Given the description of an element on the screen output the (x, y) to click on. 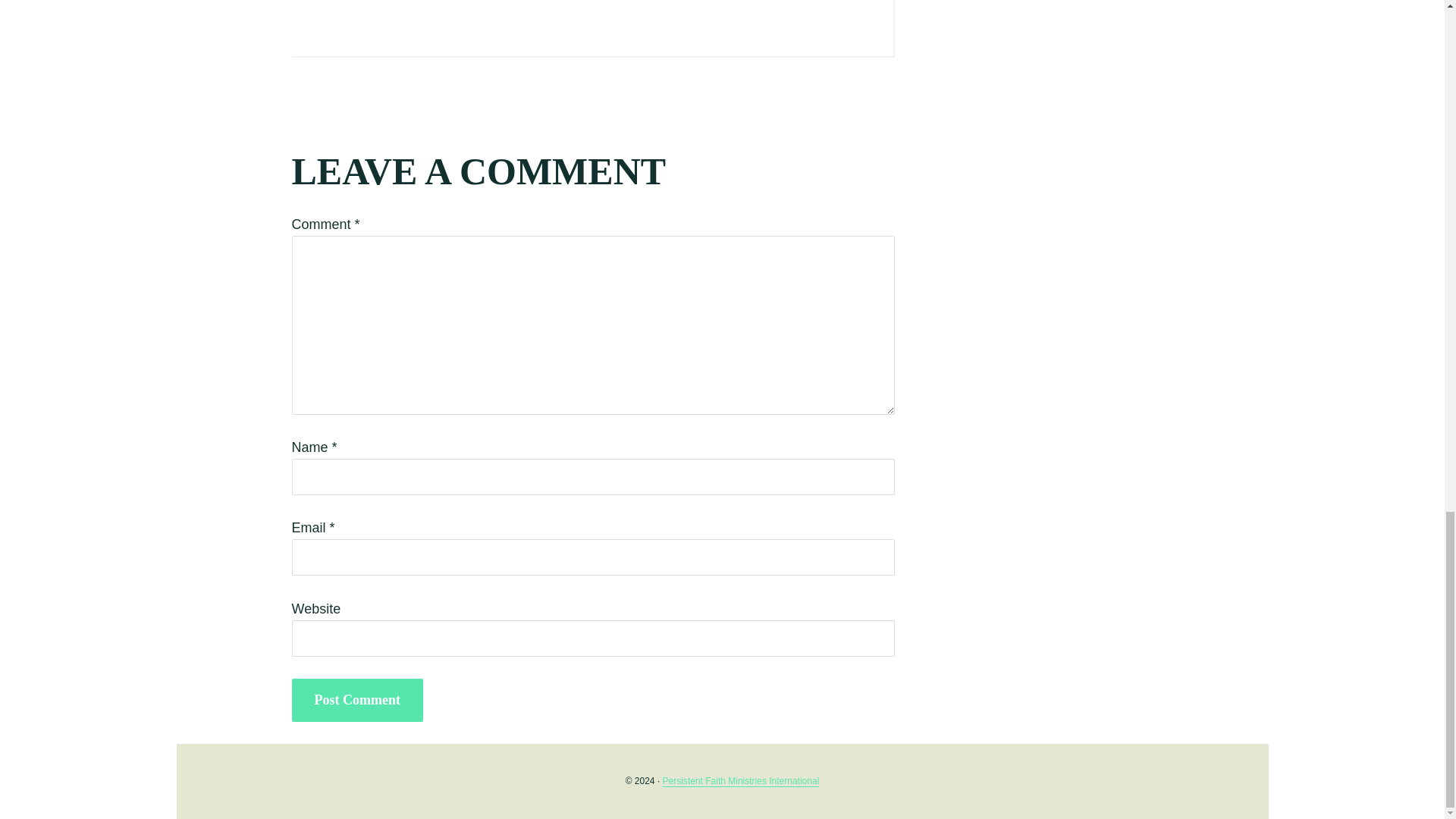
Post Comment (356, 699)
Post Comment (356, 699)
Persistent Faith Ministries International (740, 781)
